Given the description of an element on the screen output the (x, y) to click on. 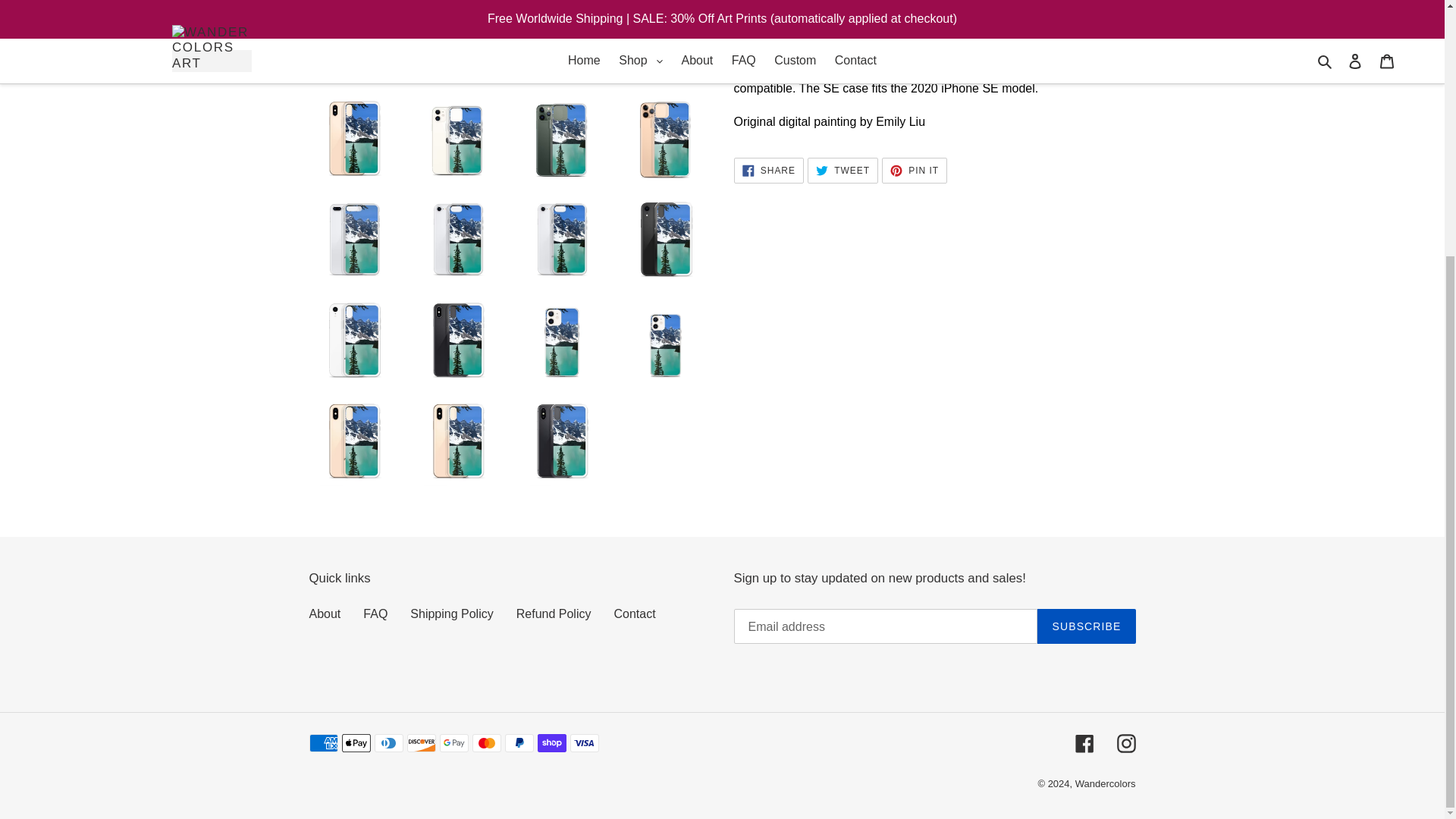
Diners Club (388, 742)
Apple Pay (354, 742)
Shop Pay (551, 742)
Visa (584, 742)
American Express (322, 742)
PayPal (519, 742)
Mastercard (485, 742)
Google Pay (453, 742)
Discover (420, 742)
